Given the description of an element on the screen output the (x, y) to click on. 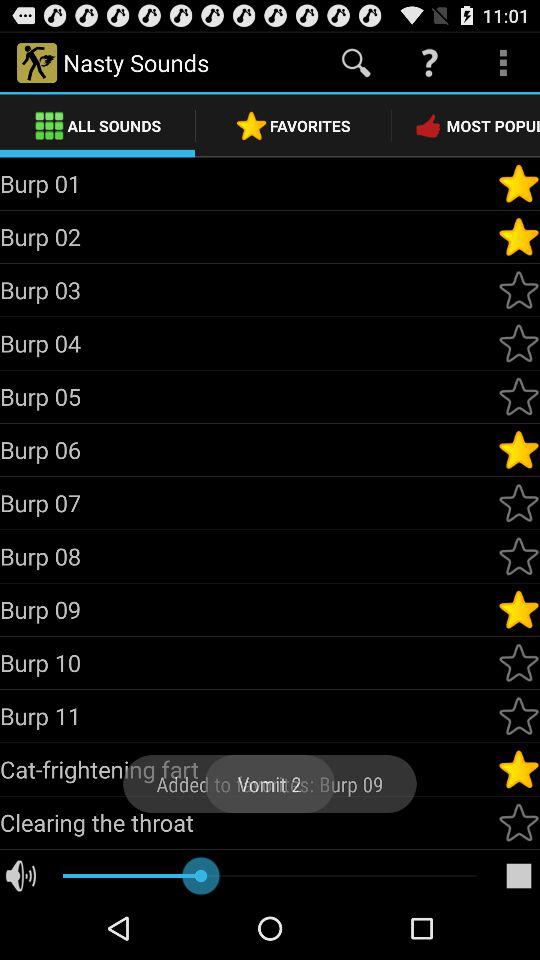
open burp 01 app (248, 183)
